Given the description of an element on the screen output the (x, y) to click on. 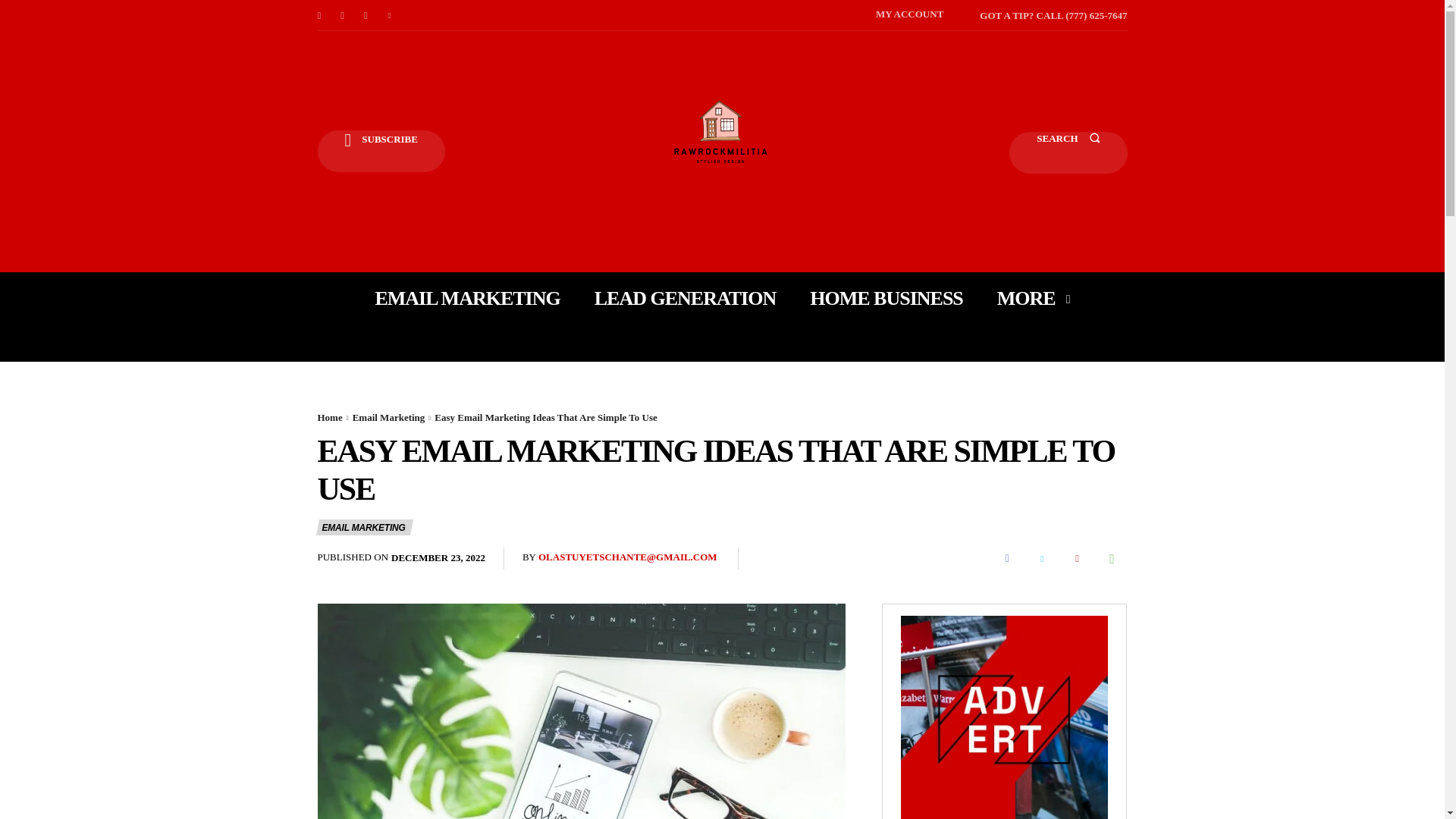
HOME BUSINESS (885, 298)
Facebook (318, 15)
Twitter (389, 15)
Instagram (342, 15)
LEAD GENERATION (685, 298)
Facebook (1006, 558)
Pinterest (1076, 558)
SUBSCRIBE (380, 150)
SEARCH (1067, 152)
View all posts in Email Marketing (388, 417)
Twitter (1041, 558)
EMAIL MARKETING (466, 298)
TikTok (366, 15)
WhatsApp (1111, 558)
